Given the description of an element on the screen output the (x, y) to click on. 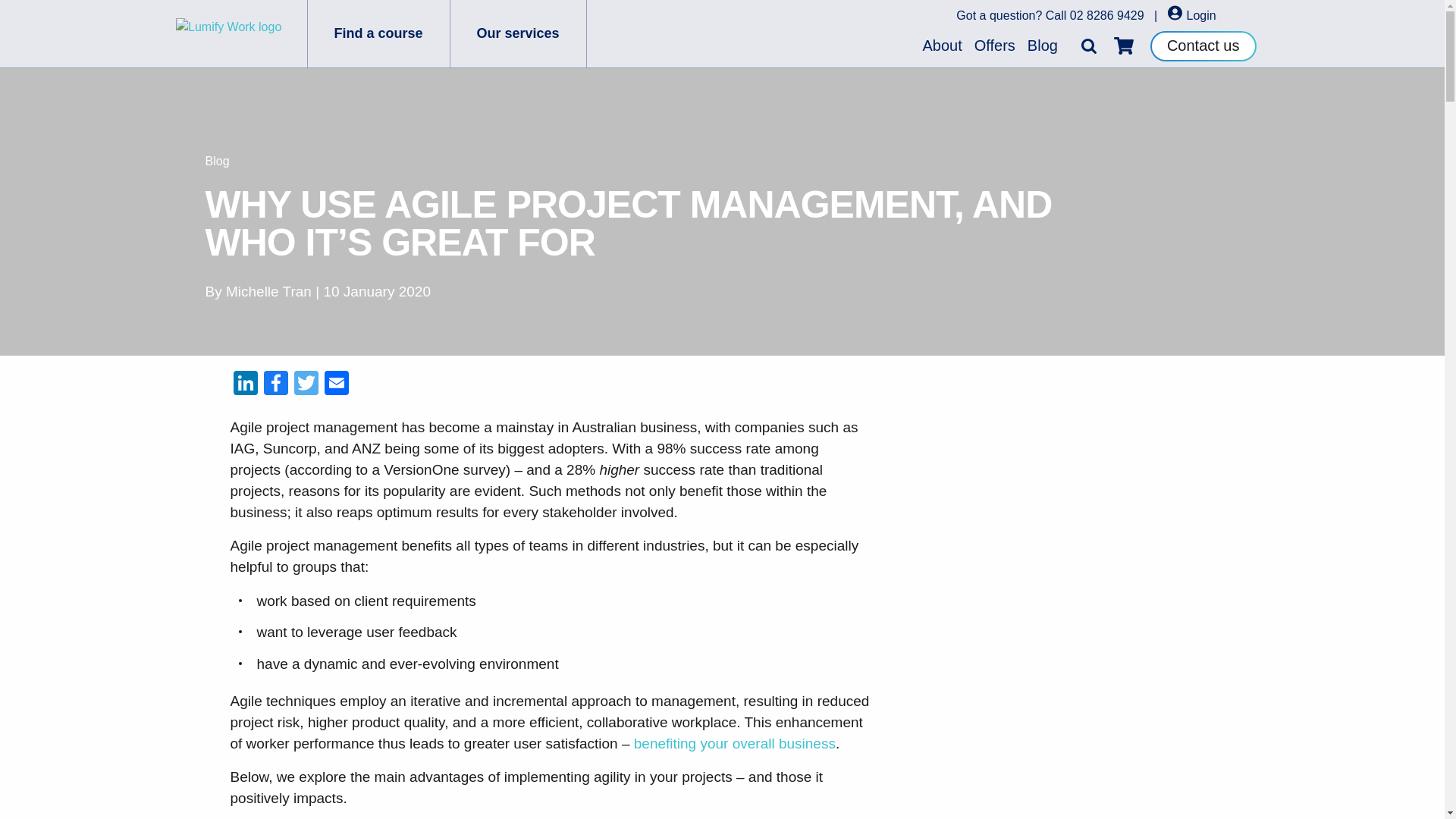
Our services (517, 33)
homepage (241, 33)
Login (1191, 15)
Find a course (378, 33)
Blog (1043, 45)
Contact us (1203, 45)
Blog (216, 160)
02 8286 9429 (1107, 15)
About (941, 45)
Checkout (1123, 46)
